Given the description of an element on the screen output the (x, y) to click on. 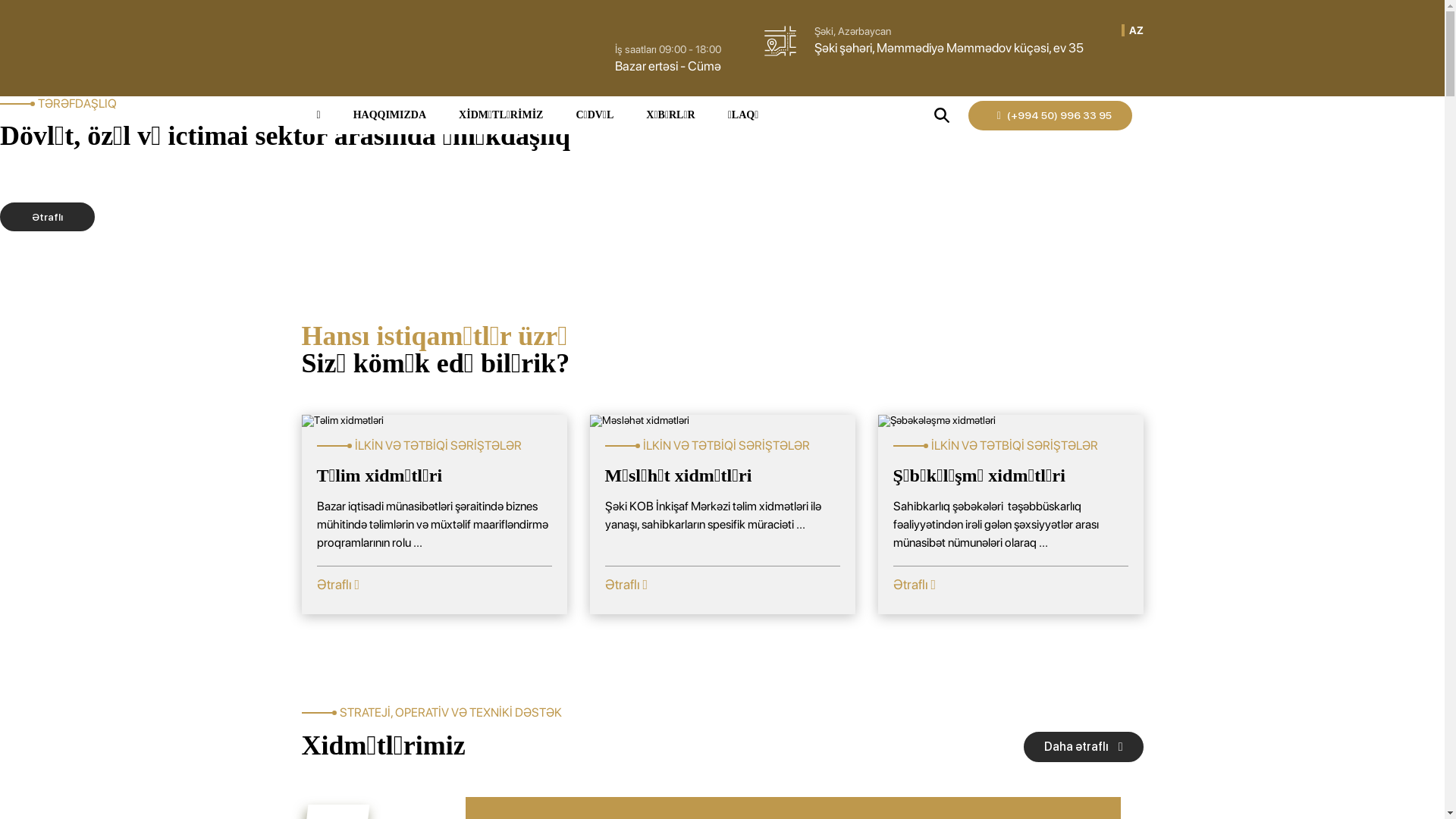
AZ Element type: text (1135, 29)
(+994 50) 996 33 95 Element type: text (1049, 115)
HAQQIMIZDA Element type: text (389, 115)
